Given the description of an element on the screen output the (x, y) to click on. 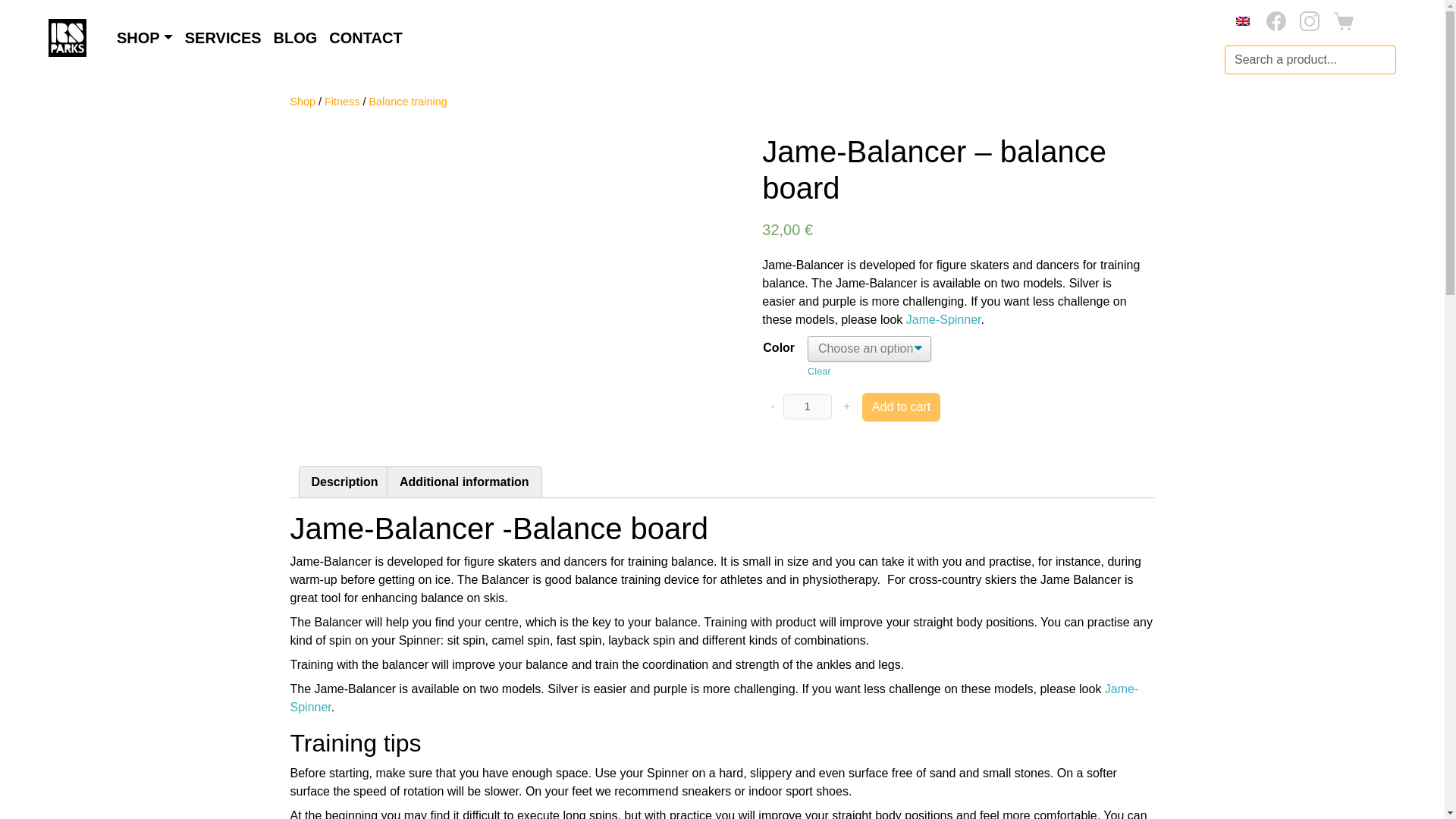
BLOG (295, 37)
SERVICES (223, 37)
SHOP (144, 37)
1 (807, 406)
CONTACT (365, 37)
